Given the description of an element on the screen output the (x, y) to click on. 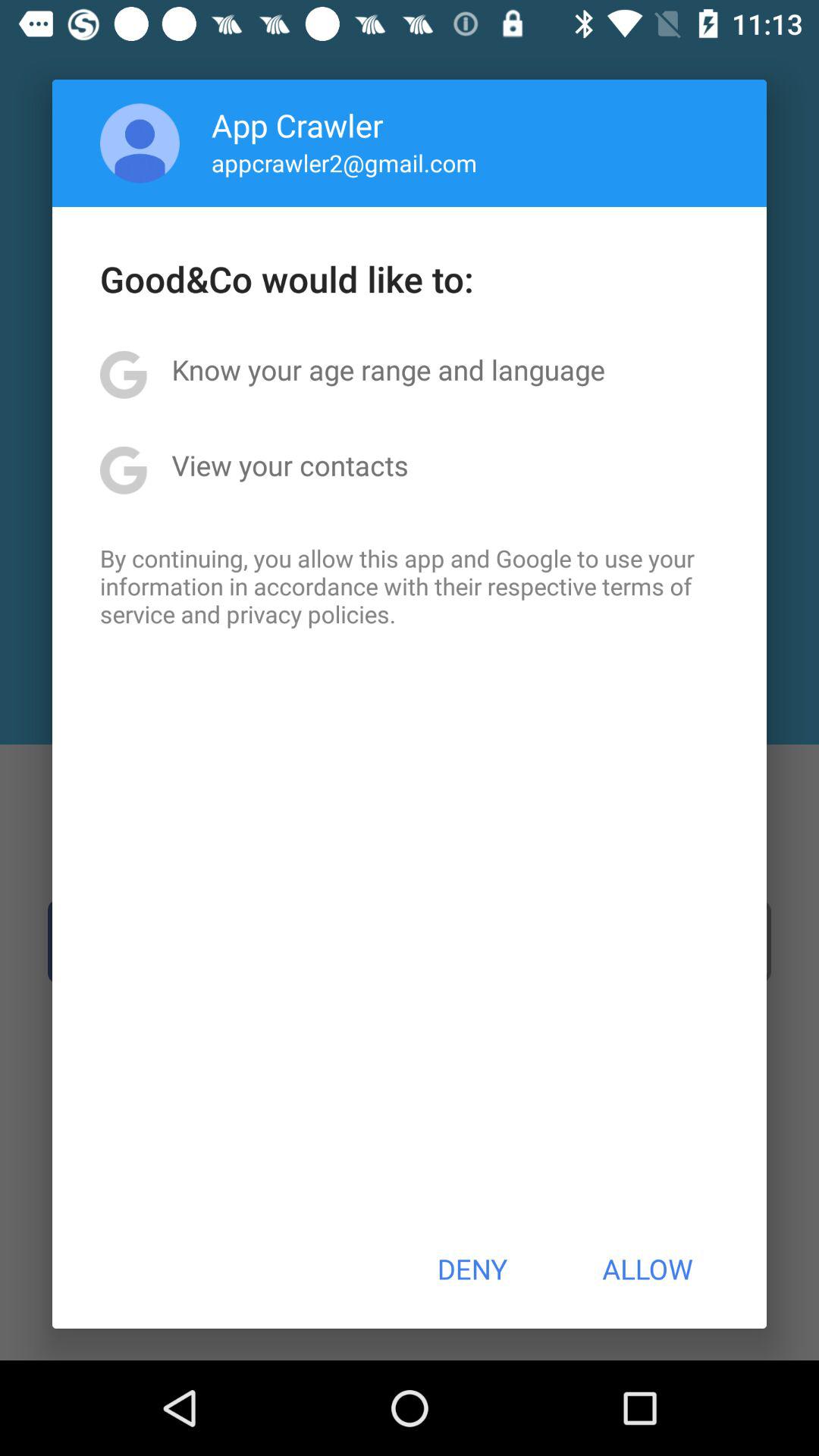
tap the item next to app crawler (139, 143)
